Given the description of an element on the screen output the (x, y) to click on. 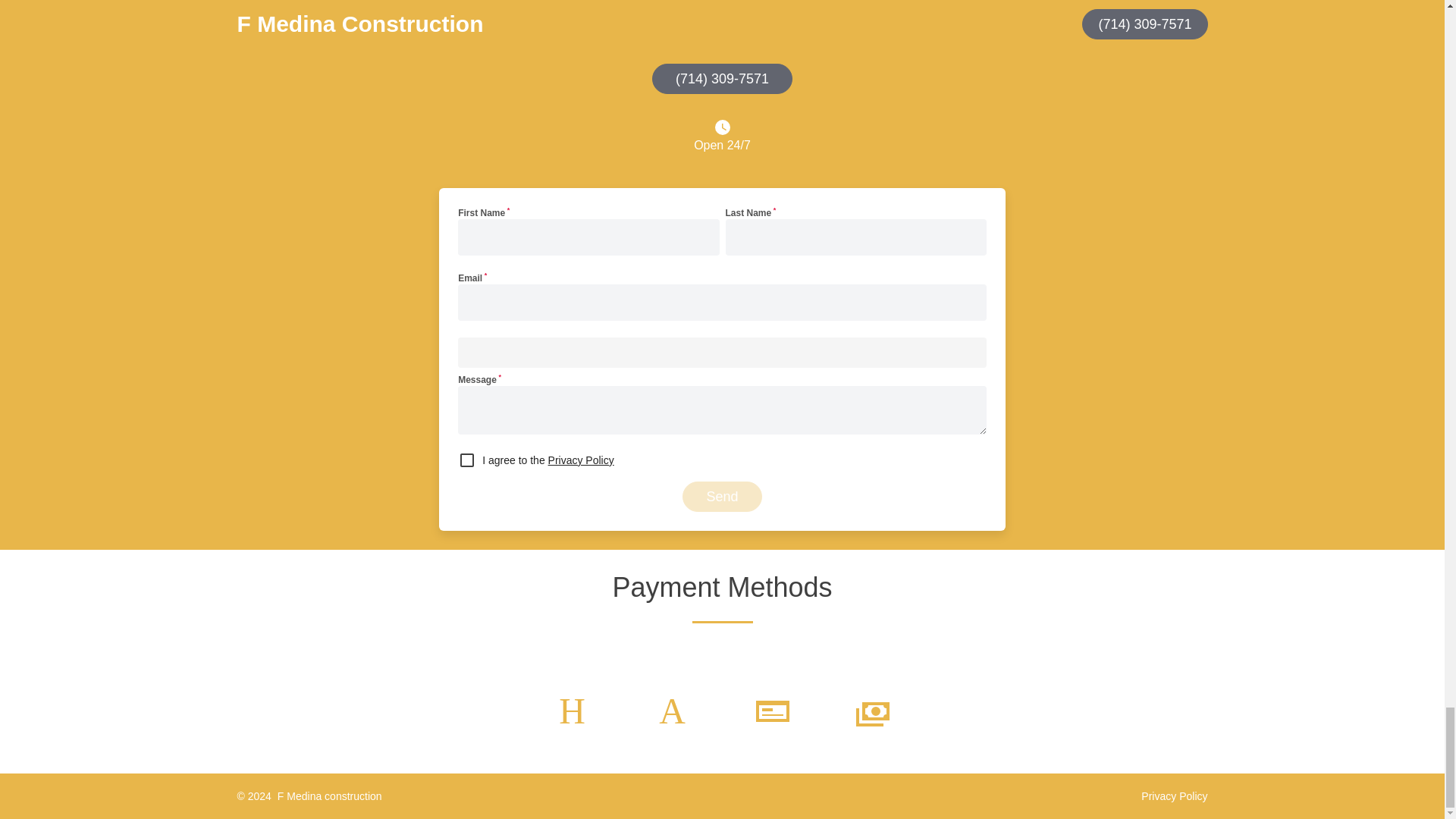
Send (721, 496)
Privacy Policy (1174, 796)
Privacy Policy (581, 460)
